Given the description of an element on the screen output the (x, y) to click on. 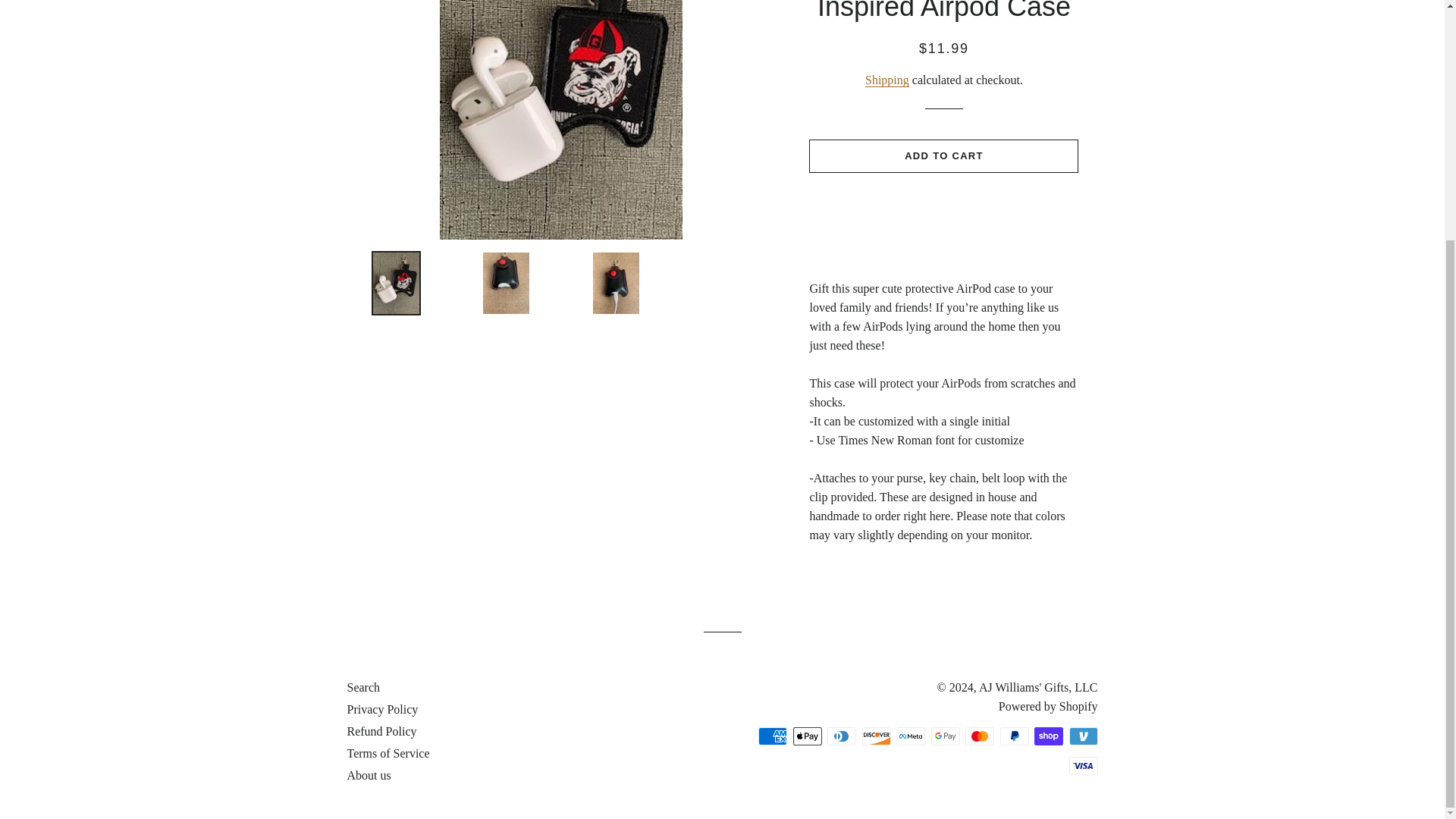
Google Pay (945, 736)
Shipping (886, 79)
Mastercard (979, 736)
Search (363, 686)
Venmo (1082, 736)
Meta Pay (910, 736)
AJ Williams' Gifts, LLC (1037, 686)
ADD TO CART (943, 155)
Powered by Shopify (1047, 706)
PayPal (1012, 736)
Terms of Service (388, 753)
Discover (875, 736)
Privacy Policy (383, 708)
About us (369, 775)
American Express (772, 736)
